Given the description of an element on the screen output the (x, y) to click on. 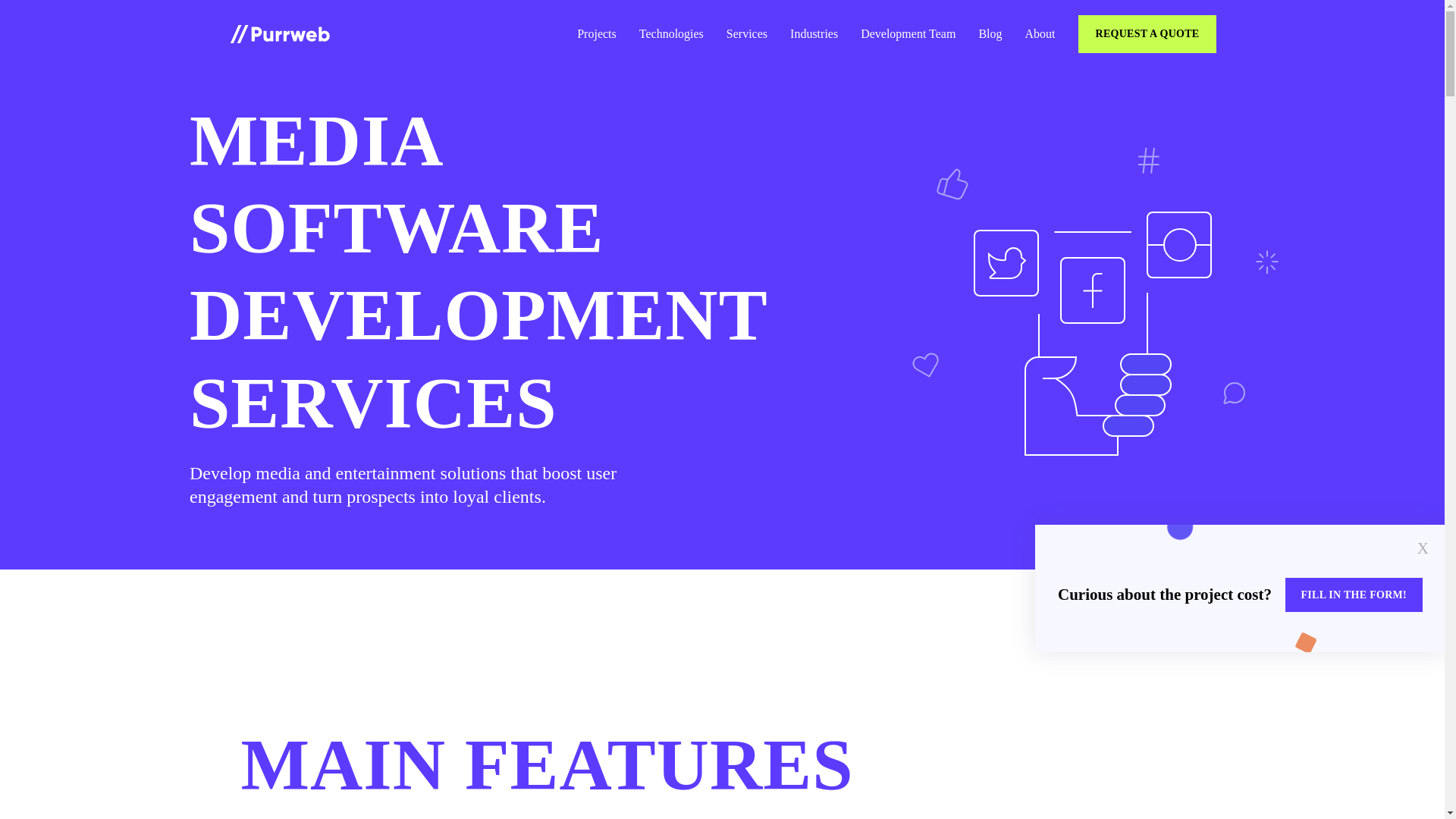
Projects (595, 33)
Services (746, 33)
Technologies (671, 33)
Purrweb logo (279, 34)
Industries (814, 33)
FILL IN THE FORM! (1355, 592)
REQUEST A QUOTE (1149, 31)
